Given the description of an element on the screen output the (x, y) to click on. 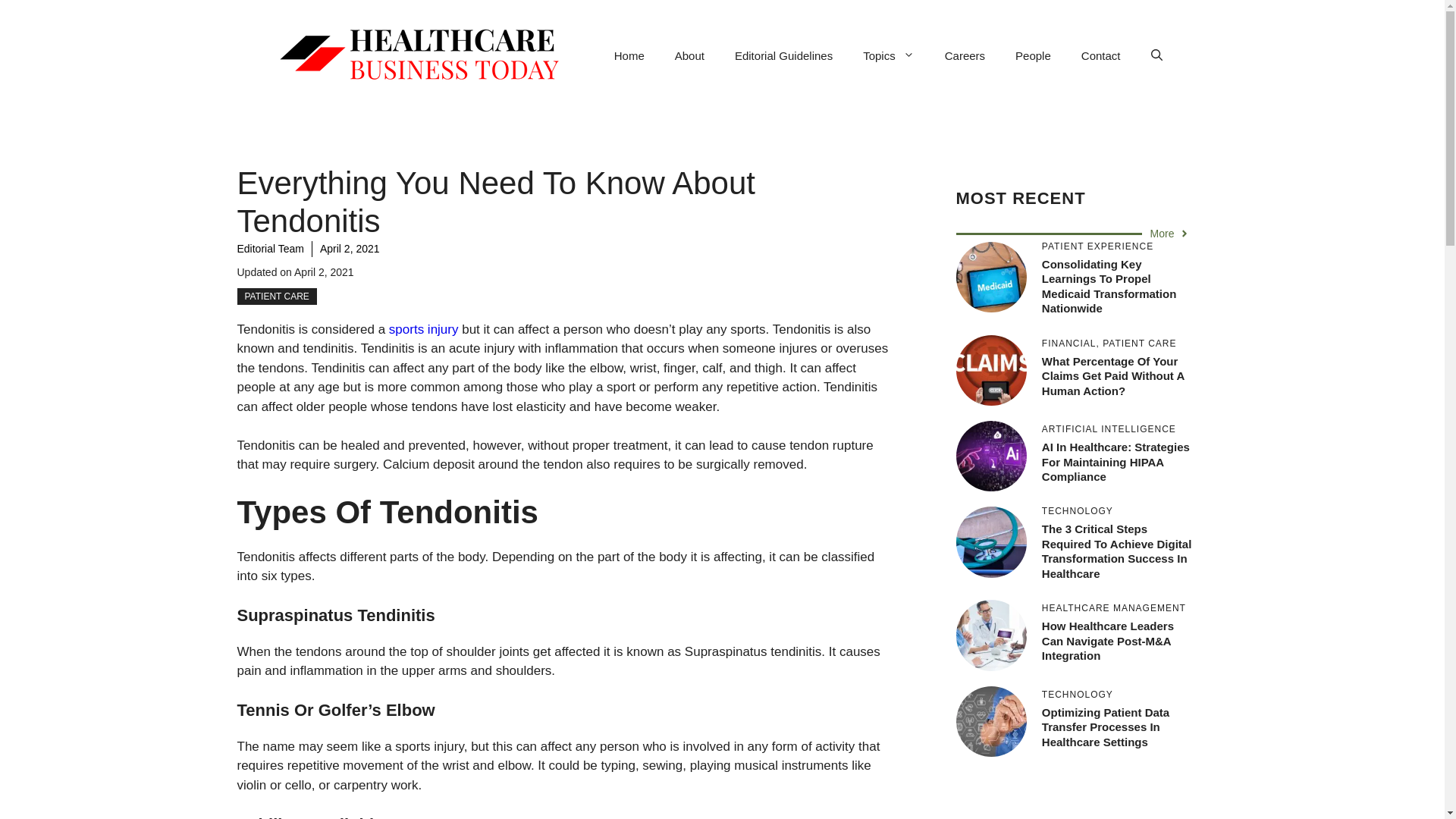
Editorial Guidelines (783, 55)
Topics (888, 55)
Careers (965, 55)
Home (628, 55)
More (1170, 233)
People (1032, 55)
Editorial Team (268, 248)
PATIENT CARE (275, 296)
Contact (1100, 55)
About (689, 55)
sports injury (423, 329)
